Given the description of an element on the screen output the (x, y) to click on. 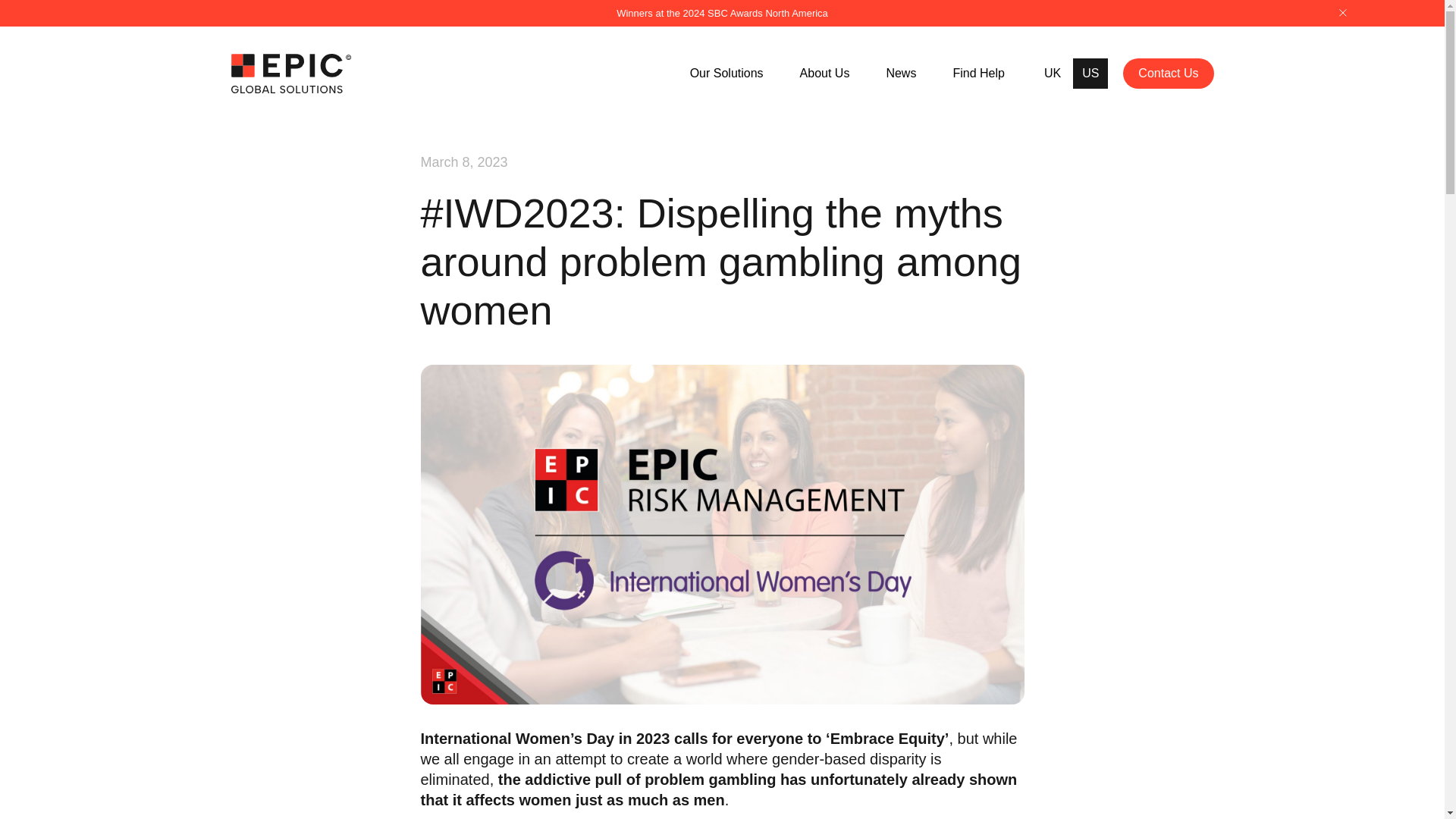
US (1090, 73)
Find Help (978, 73)
About Us (824, 73)
Contact Us (1167, 73)
UK (1052, 73)
Our Solutions (726, 73)
News (900, 73)
